Given the description of an element on the screen output the (x, y) to click on. 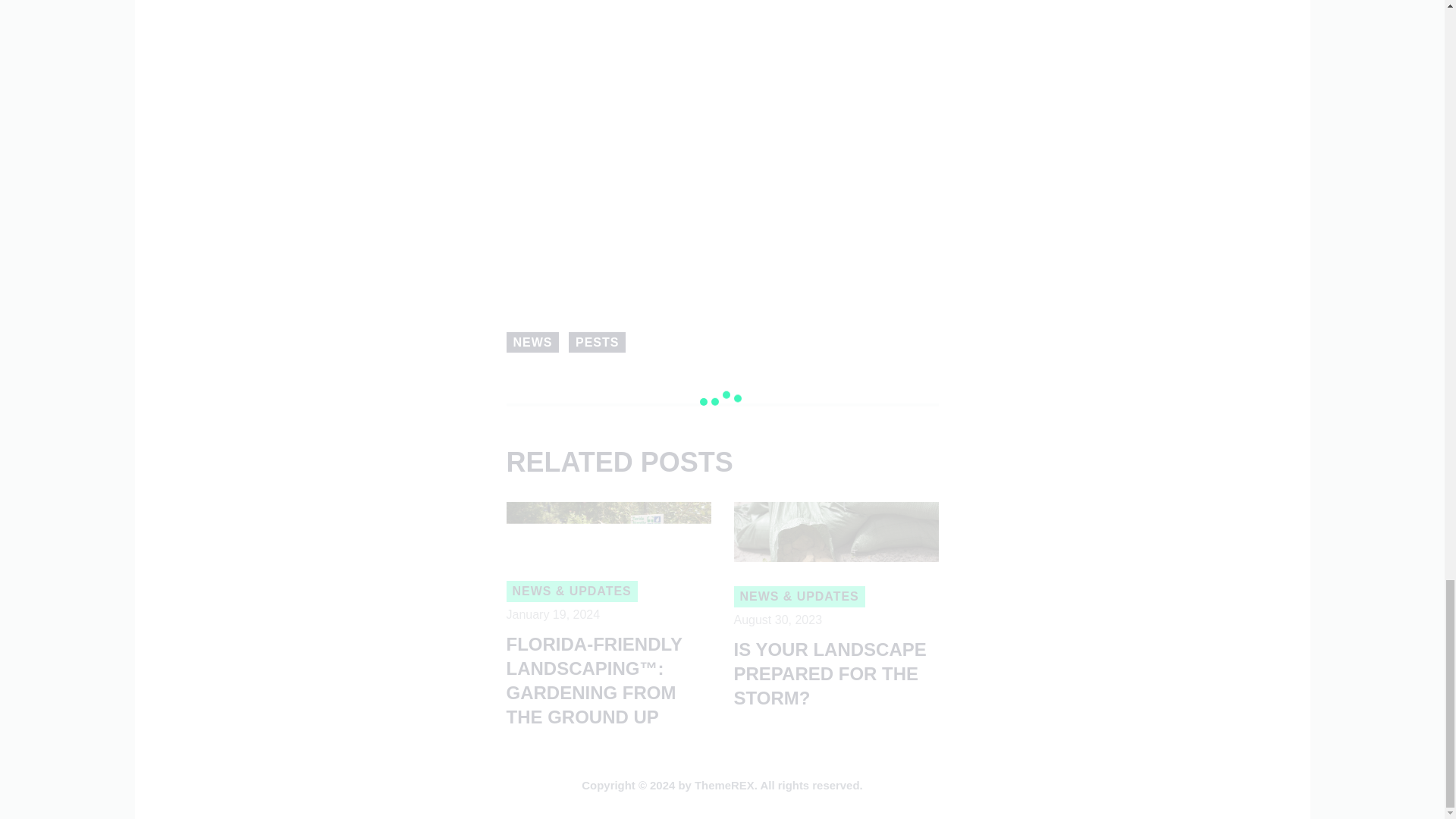
NEWS (532, 342)
IS YOUR LANDSCAPE PREPARED FOR THE STORM? (836, 674)
PESTS (597, 342)
